Given the description of an element on the screen output the (x, y) to click on. 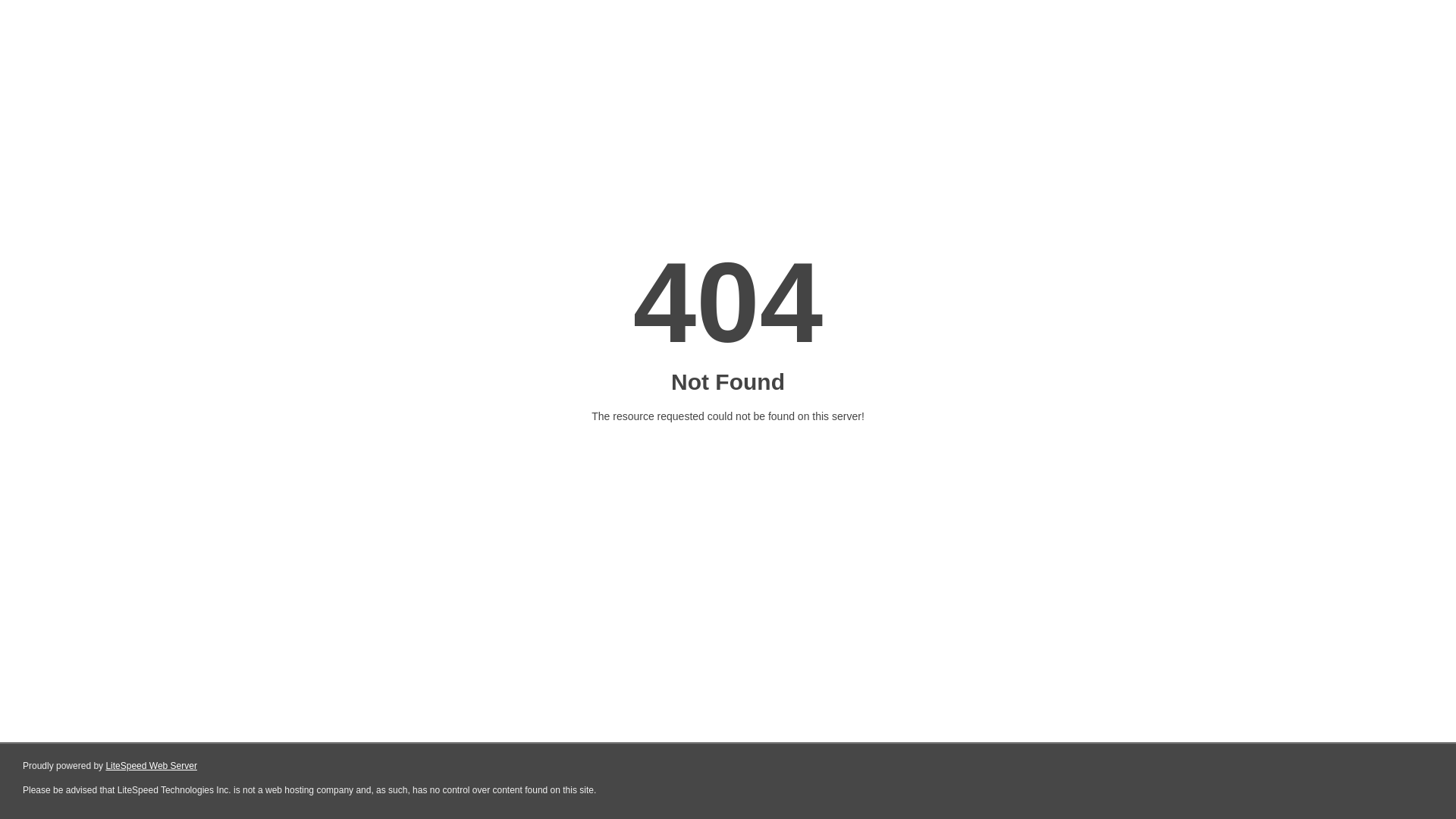
LiteSpeed Web Server Element type: text (151, 765)
